Given the description of an element on the screen output the (x, y) to click on. 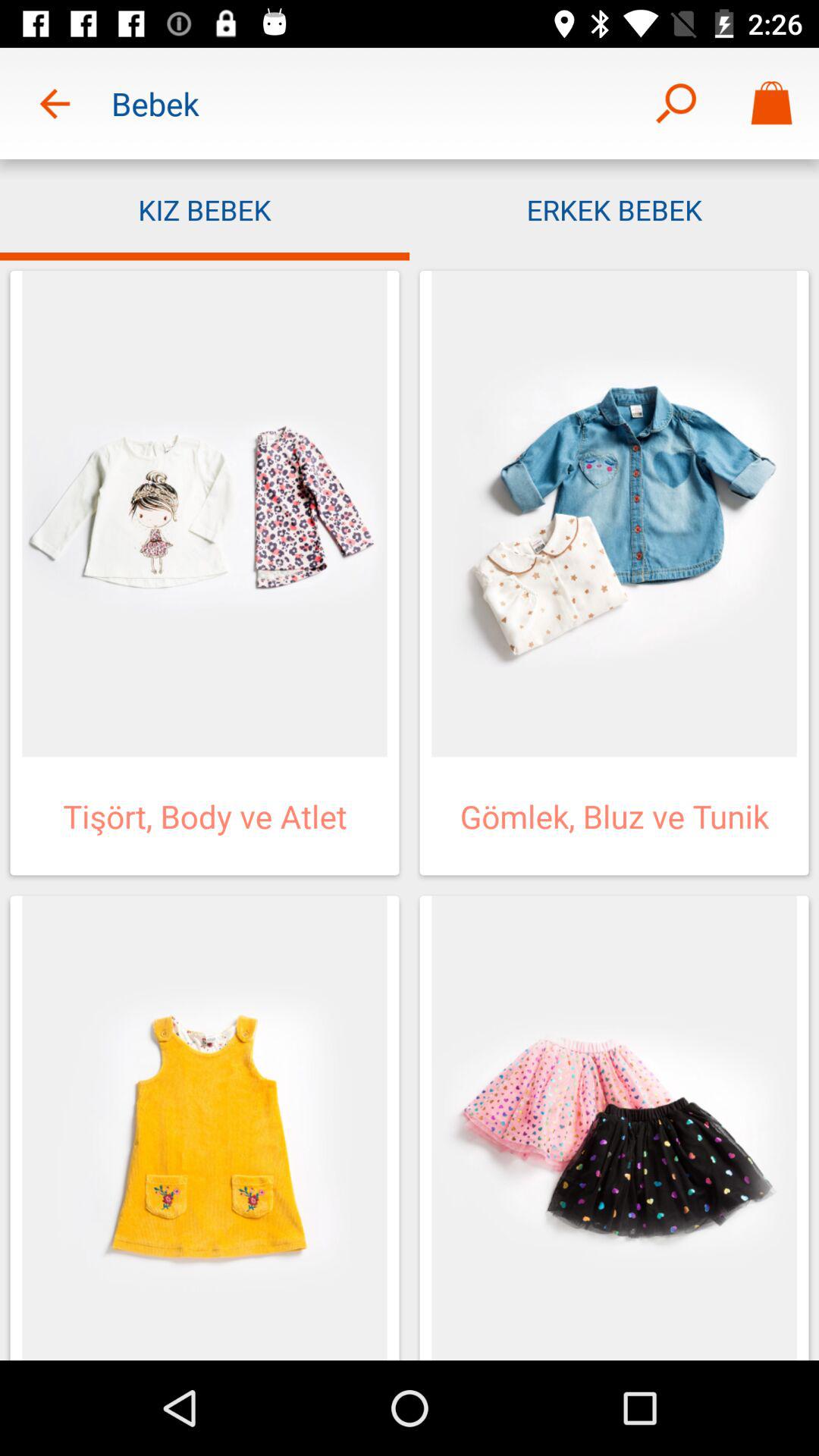
select item next to bebek icon (55, 103)
